Given the description of an element on the screen output the (x, y) to click on. 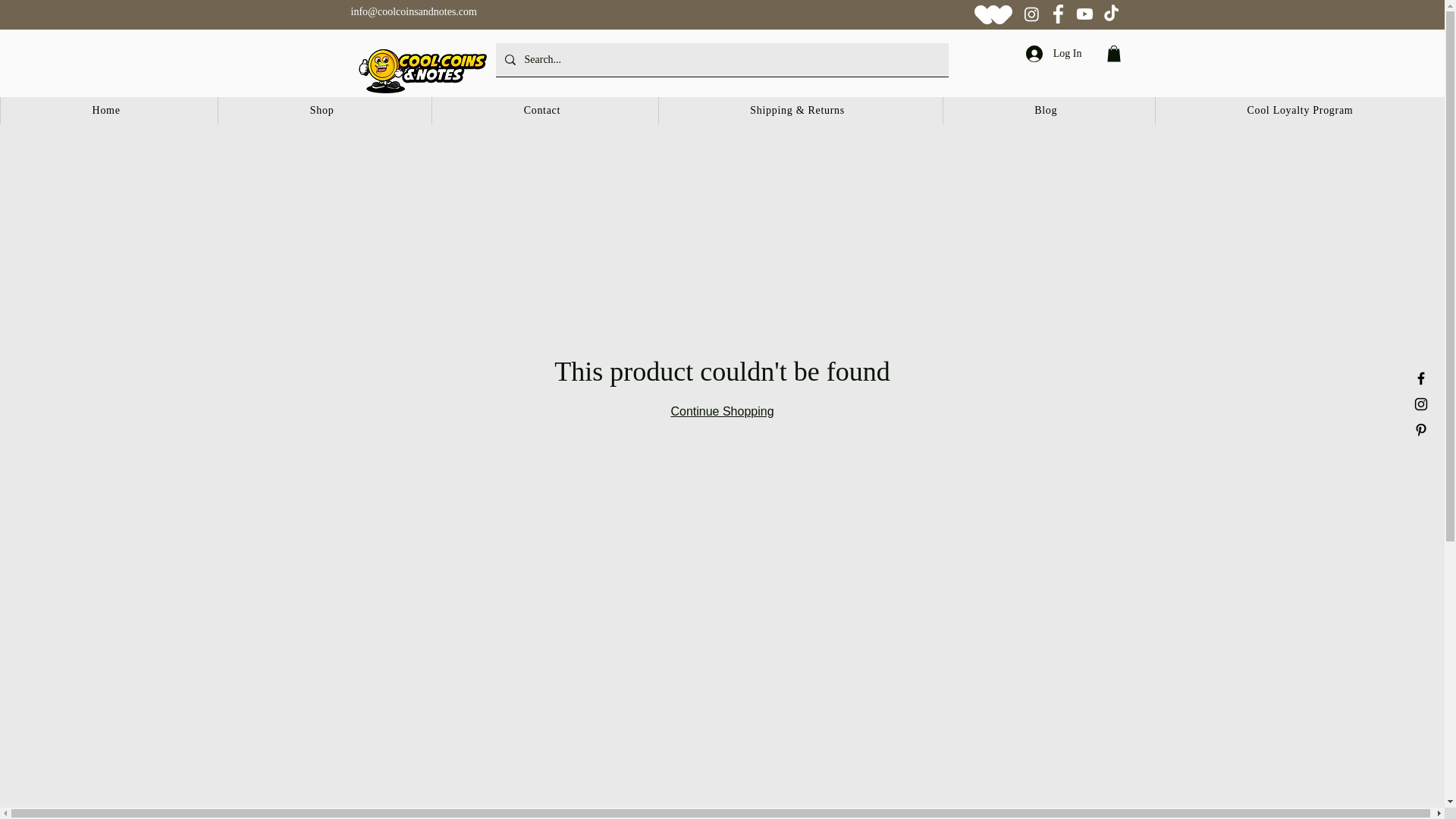
Continue Shopping (721, 410)
Contact (541, 110)
Cool Loyalty Program (1299, 110)
Log In (1053, 53)
Home (105, 110)
Shop (320, 110)
Blog (1045, 110)
